Given the description of an element on the screen output the (x, y) to click on. 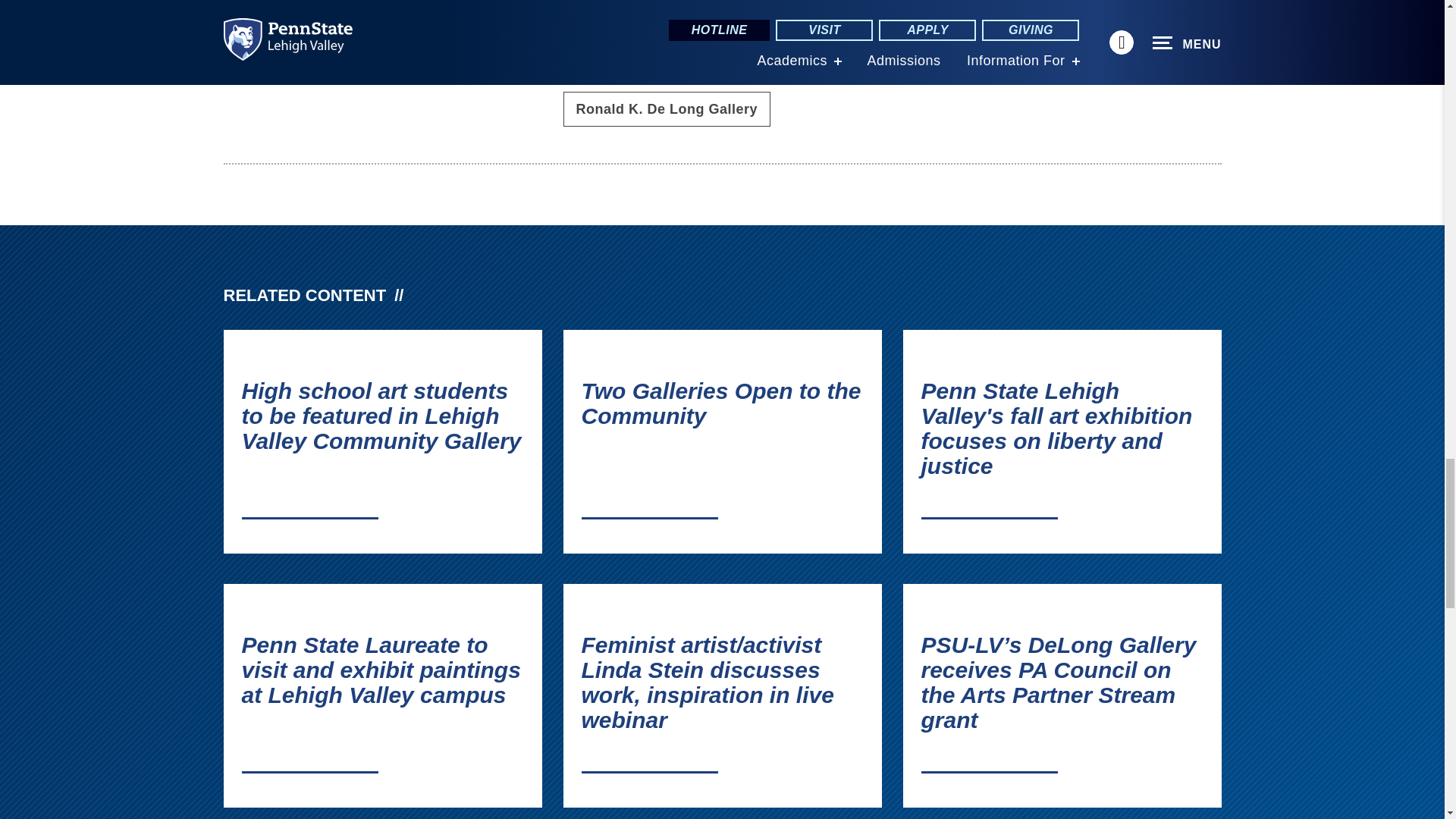
Content tagged with Ronald K. De Long Gallery (666, 108)
Content tagged with Community Gallery (733, 64)
Content tagged with RISE club (867, 64)
Content tagged with Art Club (603, 64)
